Given the description of an element on the screen output the (x, y) to click on. 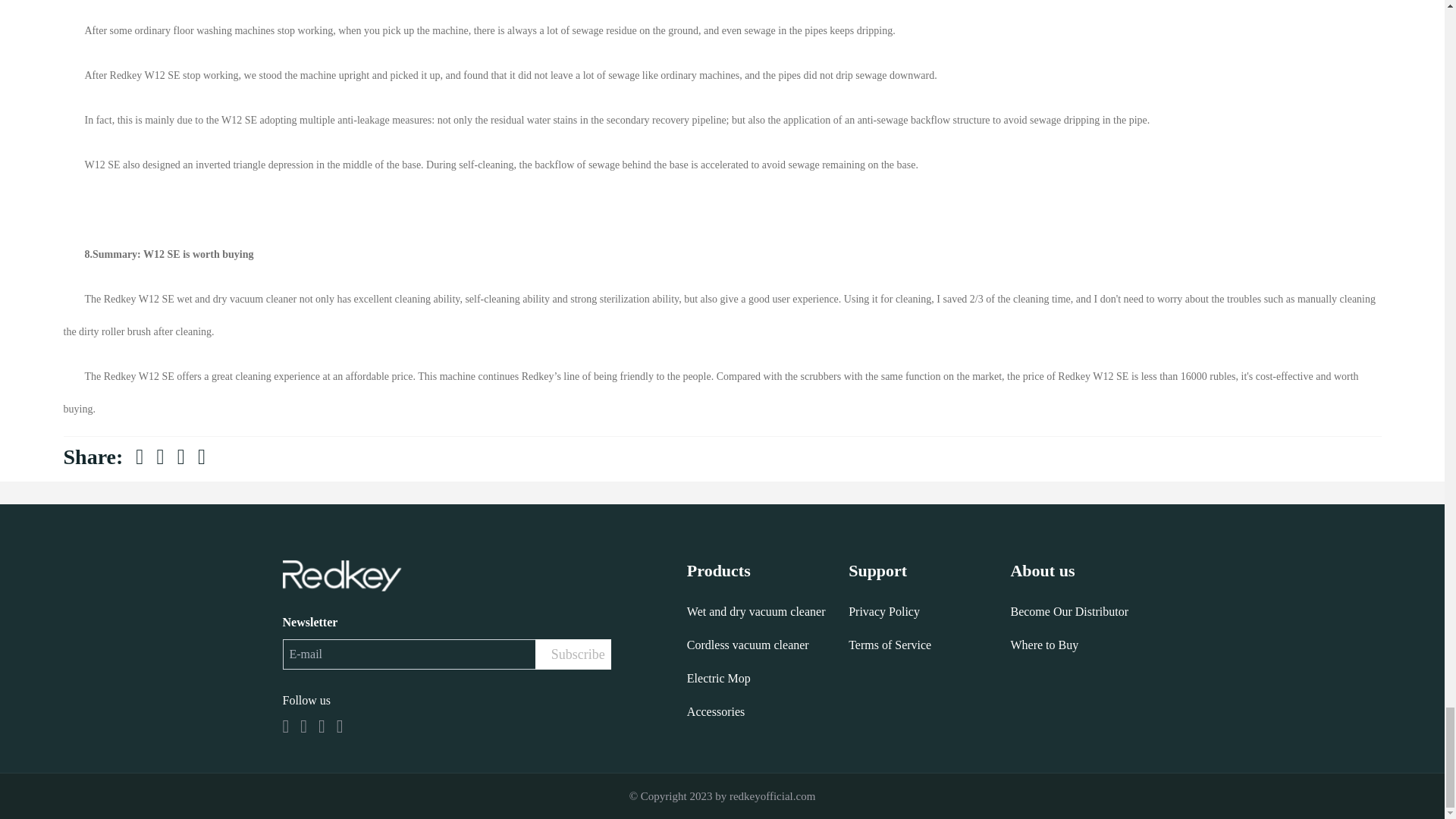
Wet and dry vacuum cleaner (767, 611)
Electric Mop (767, 677)
Subscribe (573, 654)
Products (767, 570)
Cordless vacuum cleaner (767, 644)
